Given the description of an element on the screen output the (x, y) to click on. 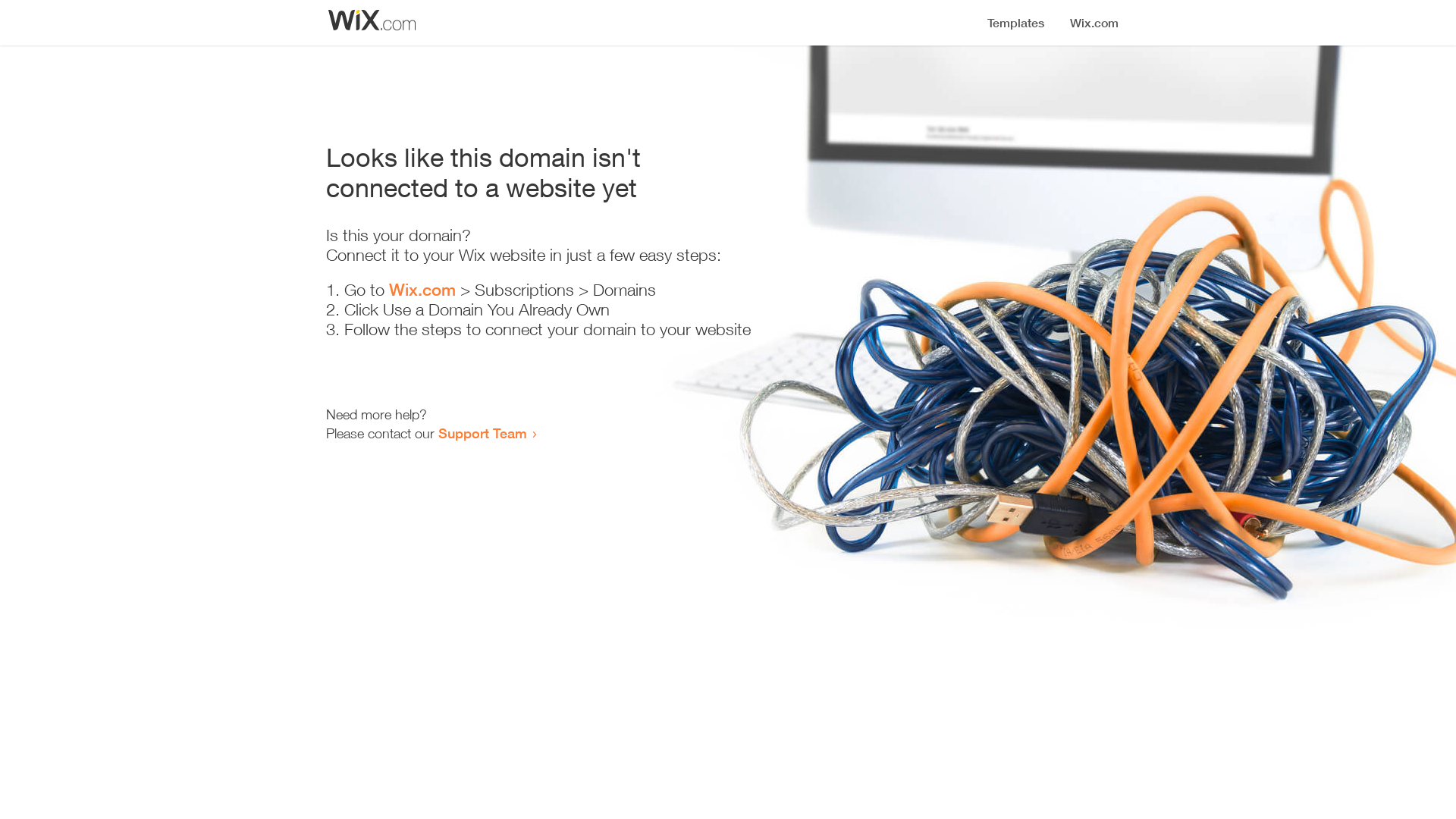
Support Team Element type: text (482, 432)
Wix.com Element type: text (422, 289)
